Given the description of an element on the screen output the (x, y) to click on. 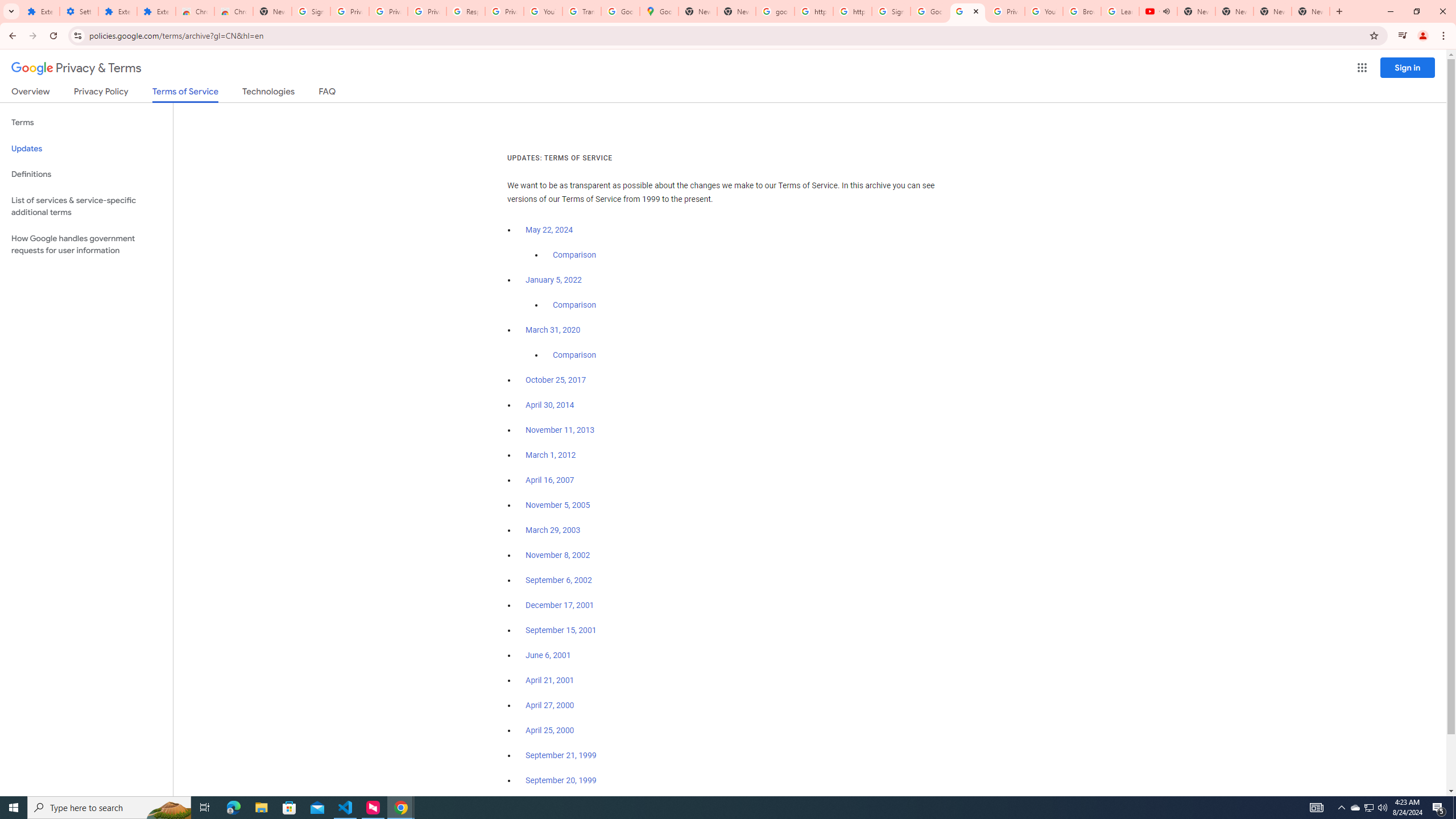
November 8, 2002 (557, 555)
Definitions (86, 174)
June 6, 2001 (547, 655)
Extensions (117, 11)
Comparison (574, 355)
https://scholar.google.com/ (852, 11)
Settings (79, 11)
September 20, 1999 (560, 780)
